Given the description of an element on the screen output the (x, y) to click on. 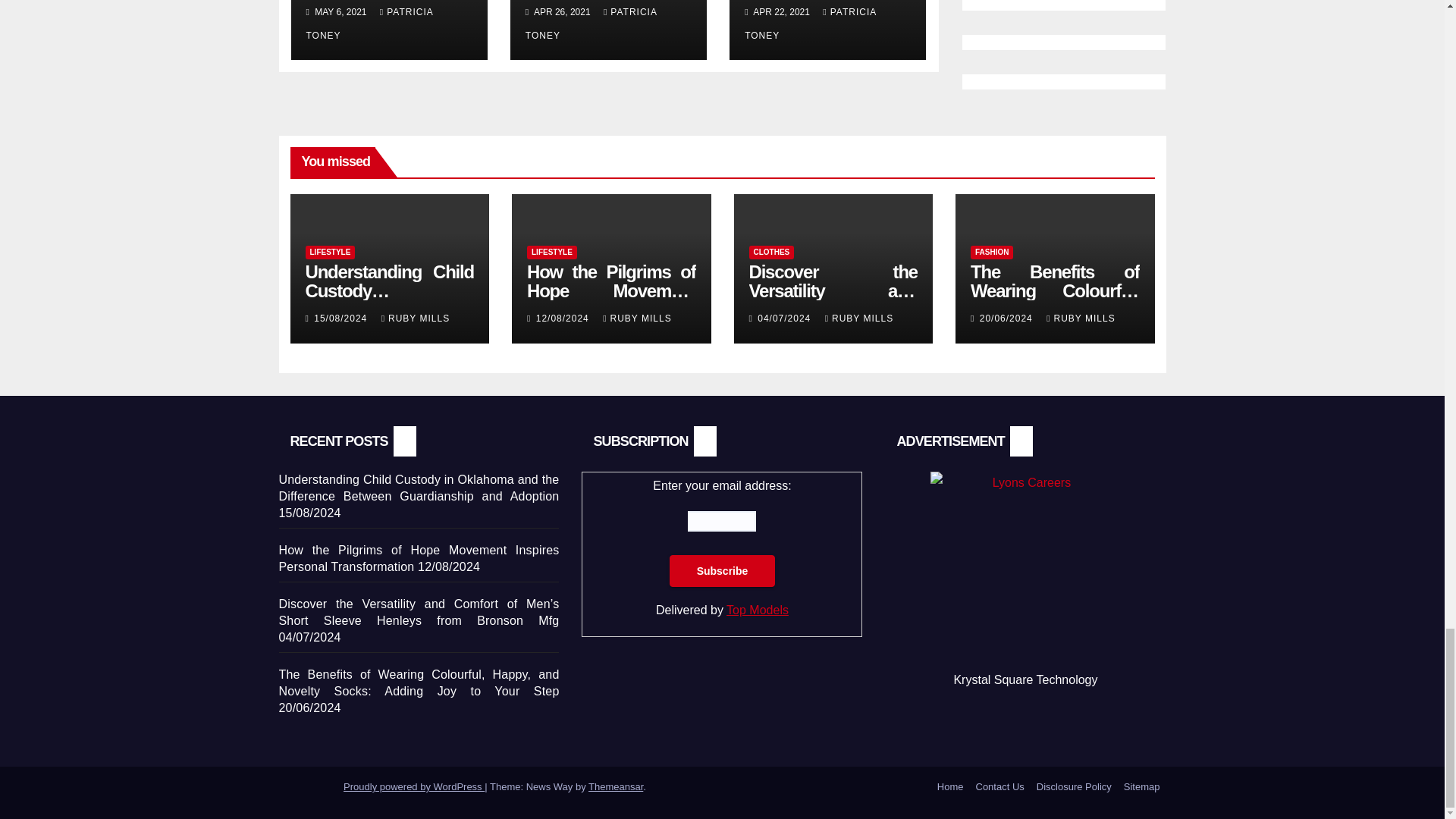
PATRICIA TONEY (369, 23)
Subscribe (722, 571)
Permalink to: 5 Simple Ways For Fashion Design News Found (608, 6)
